Given the description of an element on the screen output the (x, y) to click on. 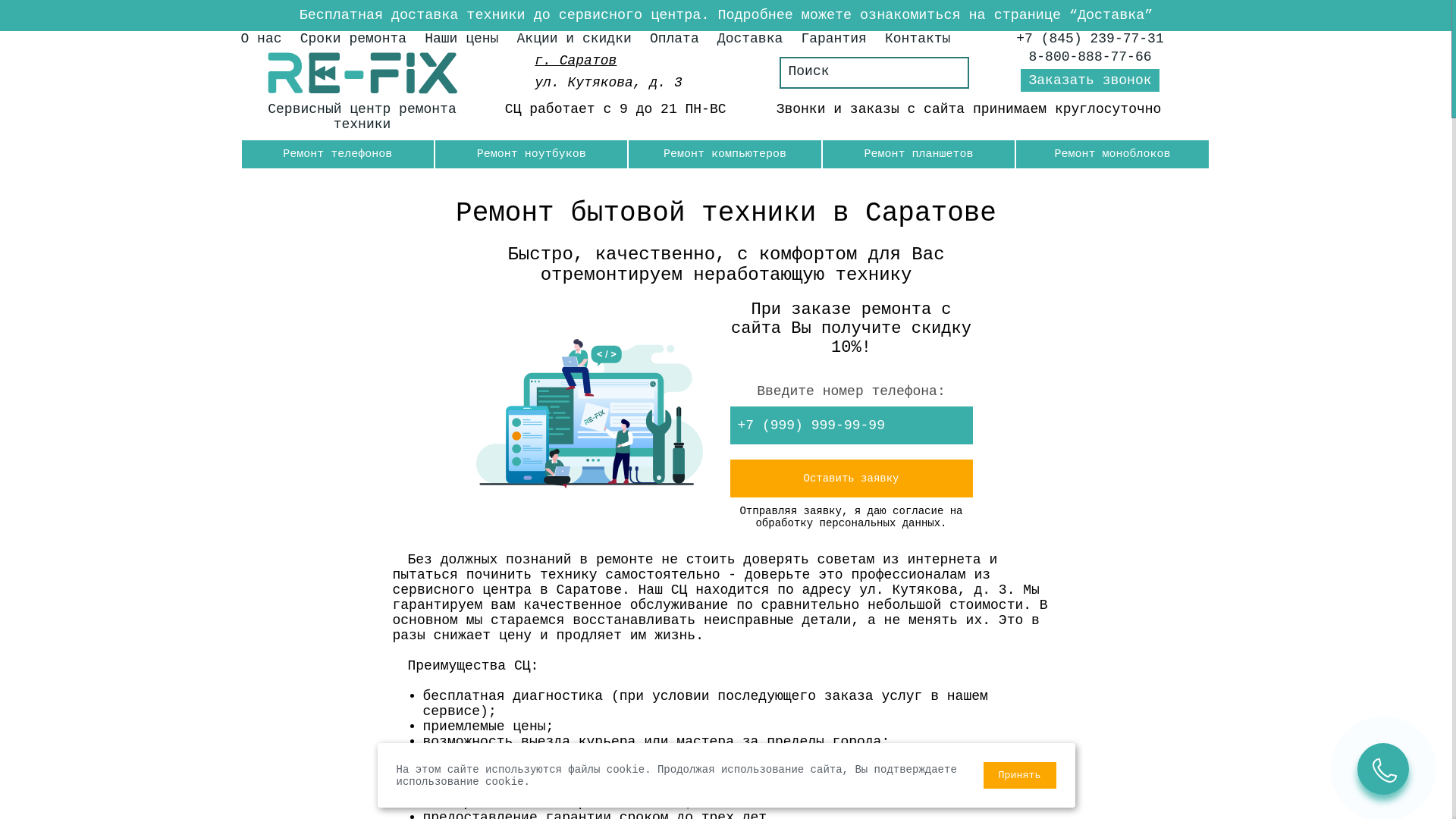
+7 (845) 239-77-31 Element type: text (1089, 38)
8-800-888-77-66 Element type: text (1090, 56)
